Given the description of an element on the screen output the (x, y) to click on. 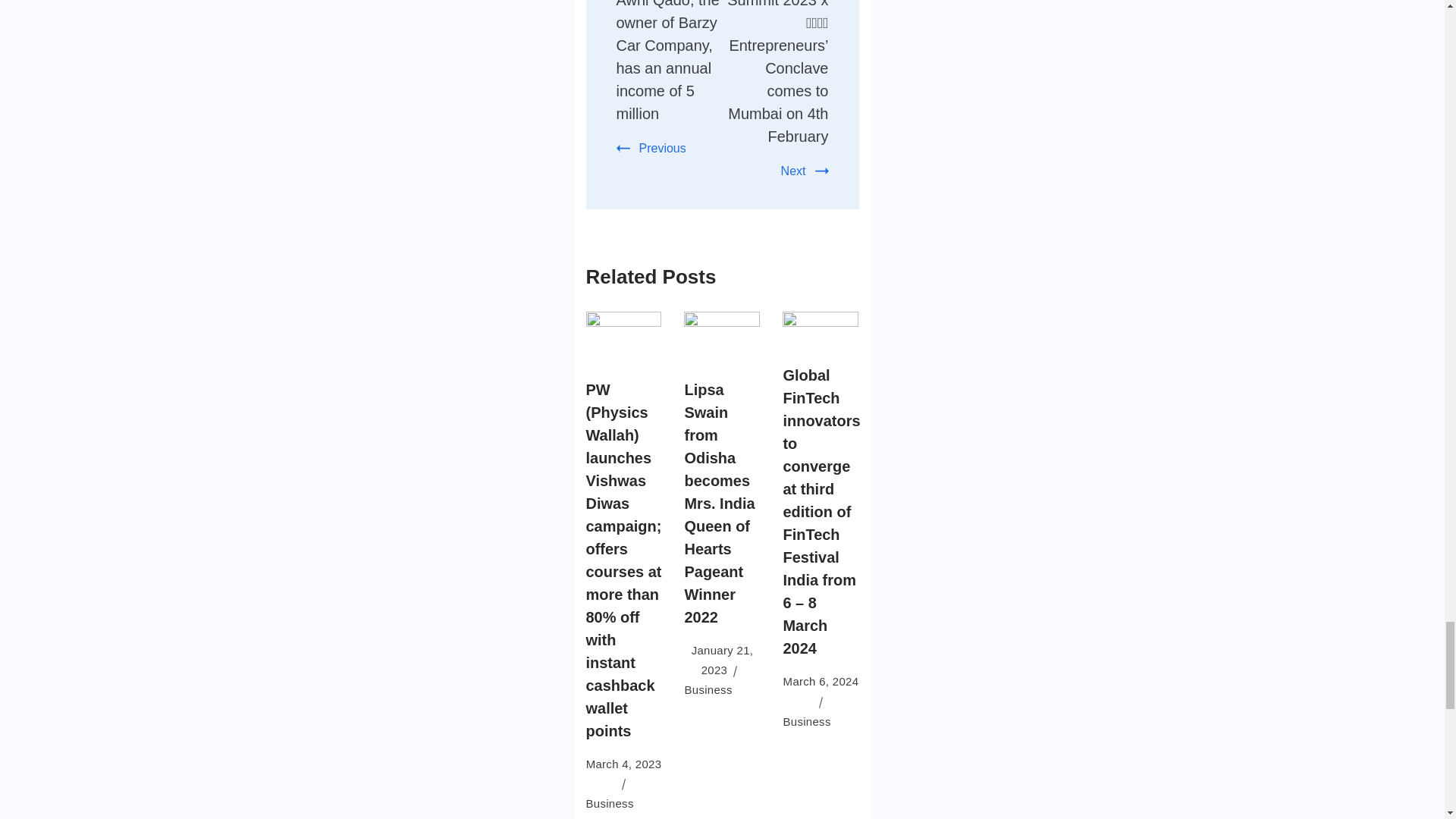
Previous (650, 147)
Next (804, 170)
Business (708, 689)
Business (806, 721)
Business (609, 802)
